Given the description of an element on the screen output the (x, y) to click on. 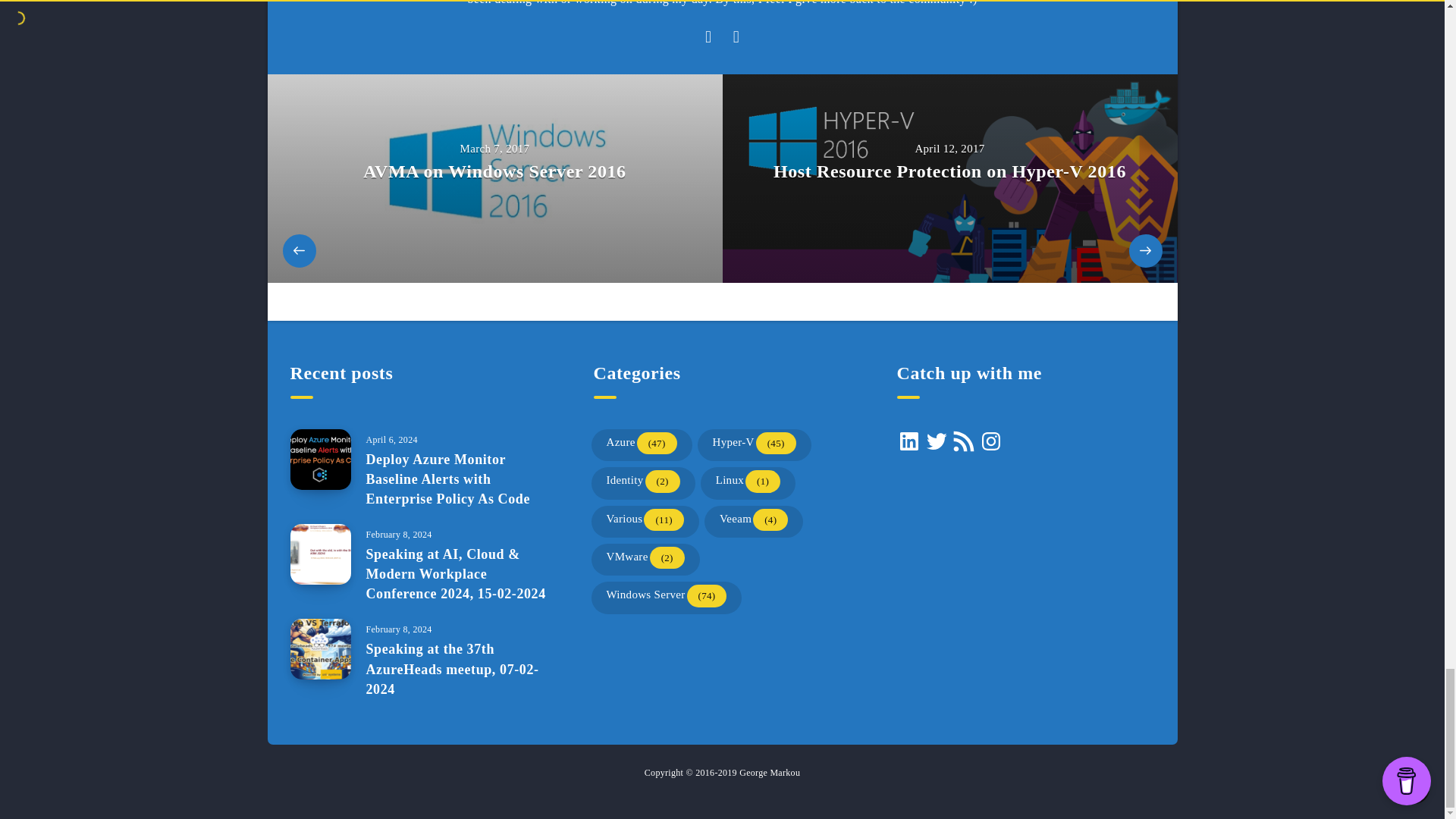
Follow me on Twitter (736, 37)
